Given the description of an element on the screen output the (x, y) to click on. 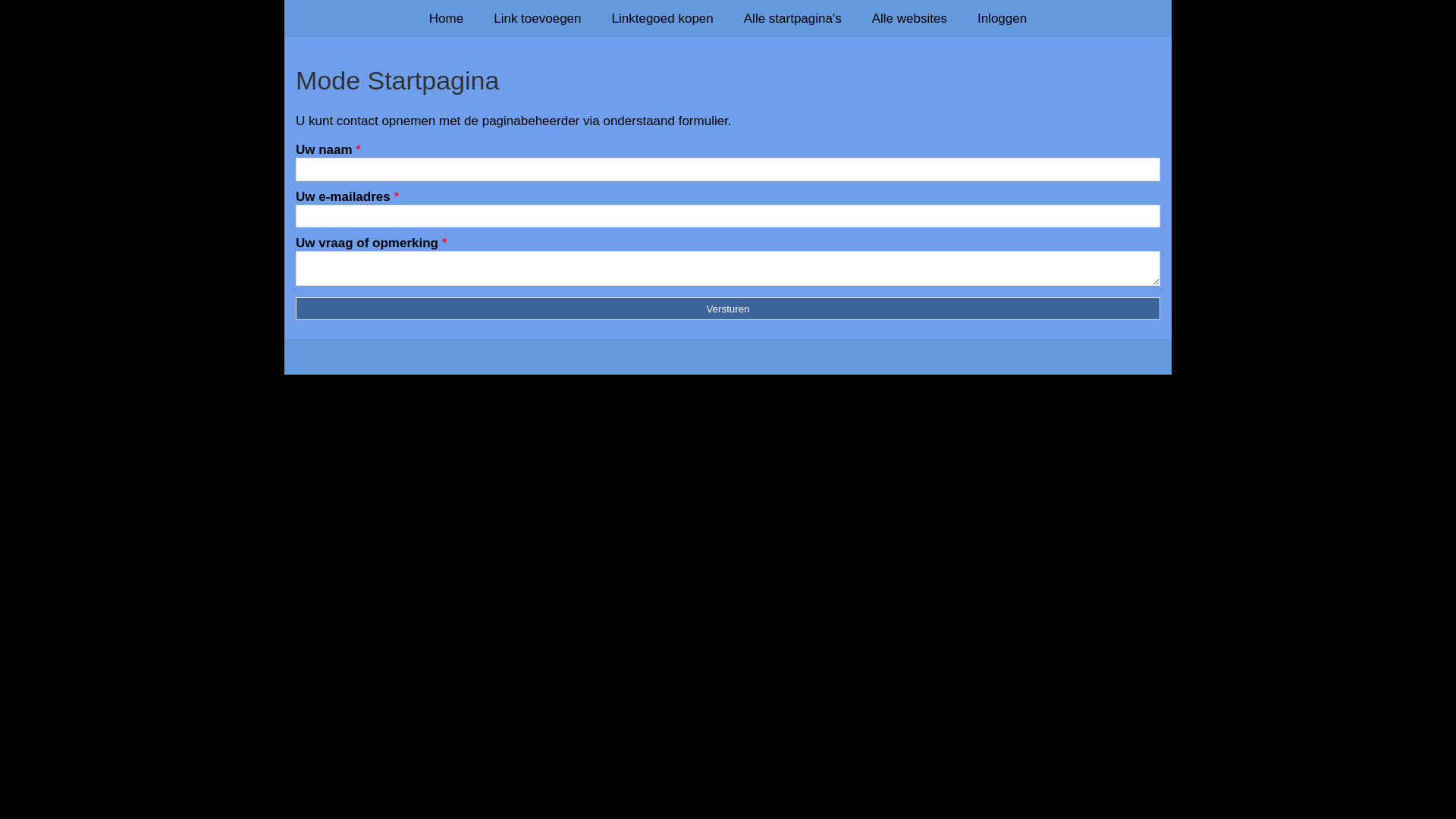
Linktegoed kopen Element type: text (662, 18)
Home Element type: text (446, 18)
Mode Startpagina Element type: text (727, 80)
Link toevoegen Element type: text (537, 18)
Inloggen Element type: text (1001, 18)
Alle startpagina's Element type: text (792, 18)
Alle websites Element type: text (909, 18)
Versturen Element type: text (727, 308)
